Given the description of an element on the screen output the (x, y) to click on. 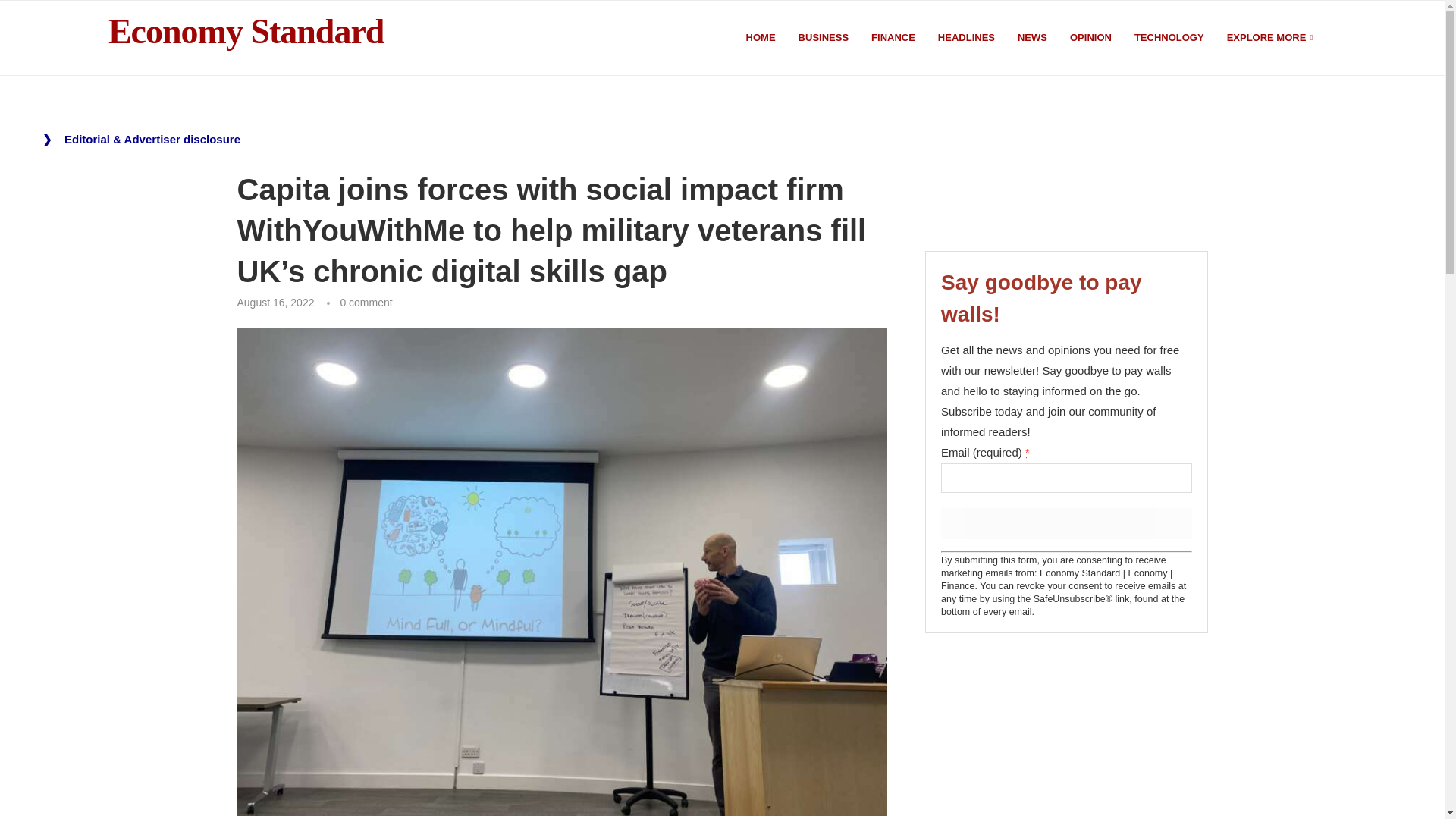
TECHNOLOGY (1169, 38)
Sign up! (1065, 522)
Economy Standard (245, 31)
Sign up! (1065, 522)
EXPLORE MORE (1270, 38)
